Given the description of an element on the screen output the (x, y) to click on. 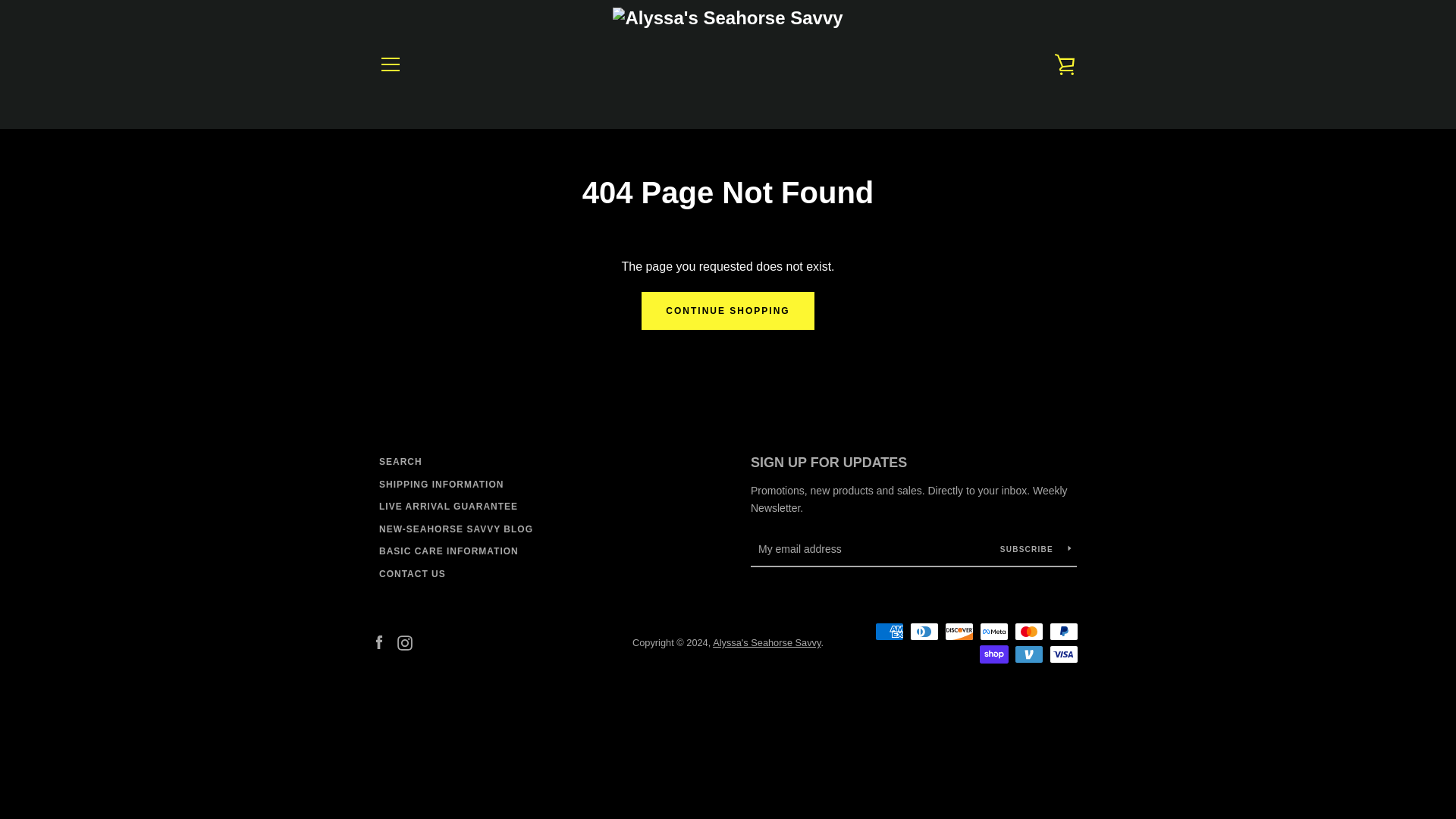
Alyssa's Seahorse Savvy on Facebook (379, 641)
Visa (1063, 654)
PayPal (1063, 631)
MENU (390, 64)
Venmo (1028, 654)
Discover (959, 631)
Shop Pay (994, 654)
American Express (889, 631)
Mastercard (1028, 631)
